Given the description of an element on the screen output the (x, y) to click on. 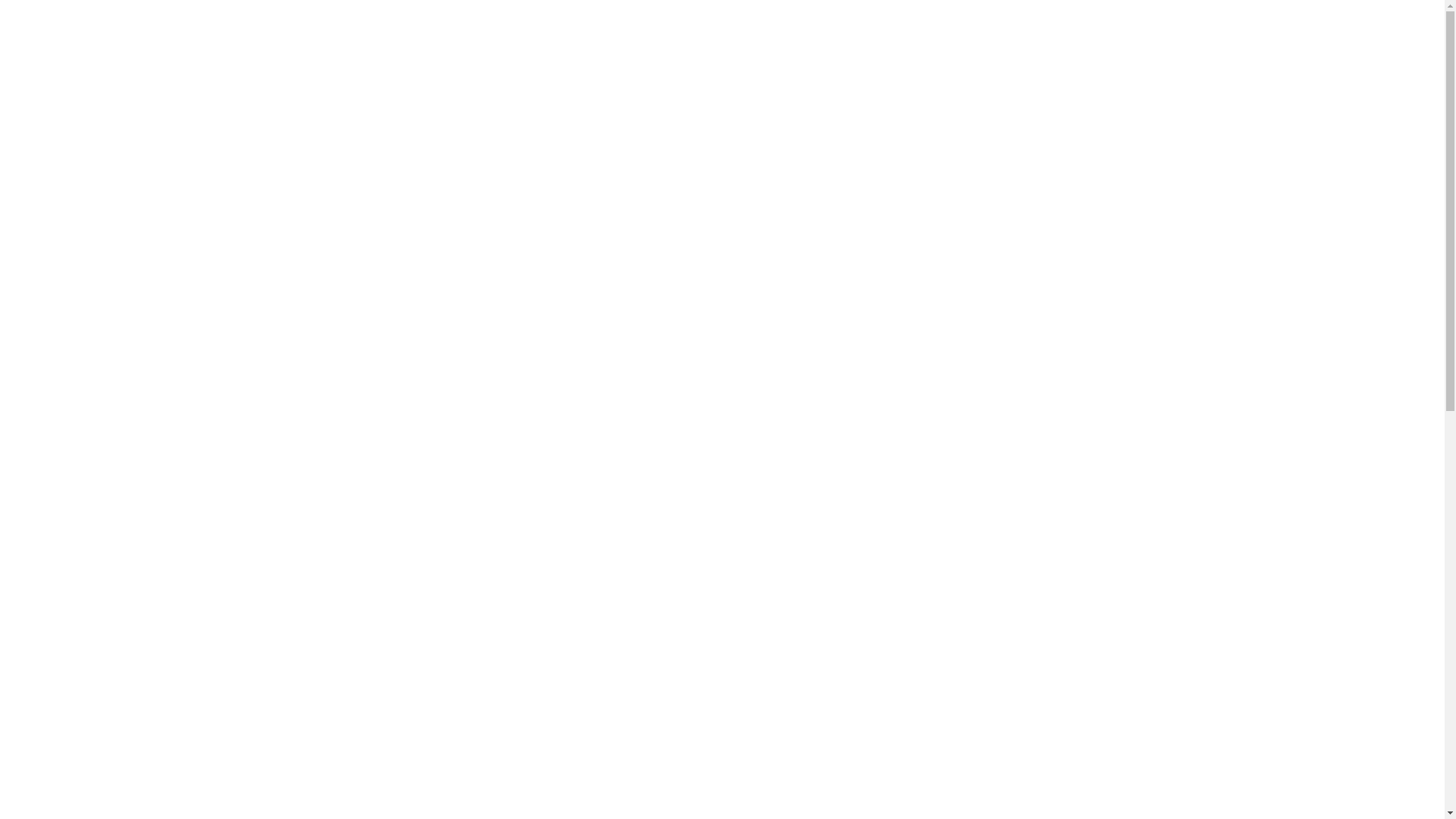
Search Element type: text (1149, 46)
